Given the description of an element on the screen output the (x, y) to click on. 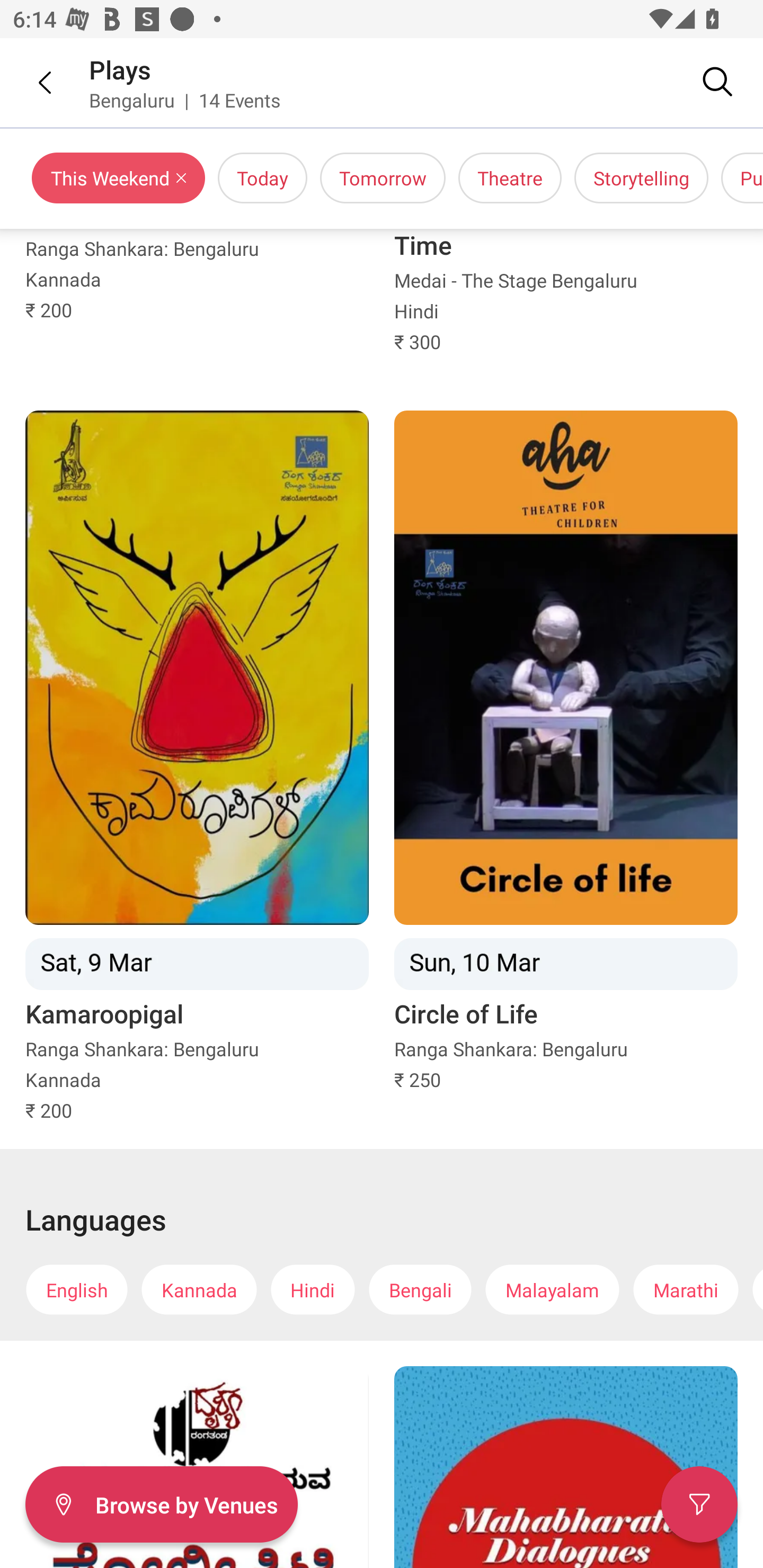
Back (31, 82)
Plays (120, 68)
Bengaluru  |  14 Events (185, 99)
This Weekend Close (118, 177)
Today (262, 177)
Tomorrow (382, 177)
Theatre (509, 177)
Storytelling (641, 177)
Circle of Life Ranga Shankara: Bengaluru ₹ 250 (565, 767)
English (76, 1289)
Kannada (199, 1289)
Hindi (312, 1289)
Bengali (420, 1289)
Malayalam (551, 1289)
Marathi (685, 1289)
Filter Browse by Venues (161, 1504)
Filter (699, 1504)
